Given the description of an element on the screen output the (x, y) to click on. 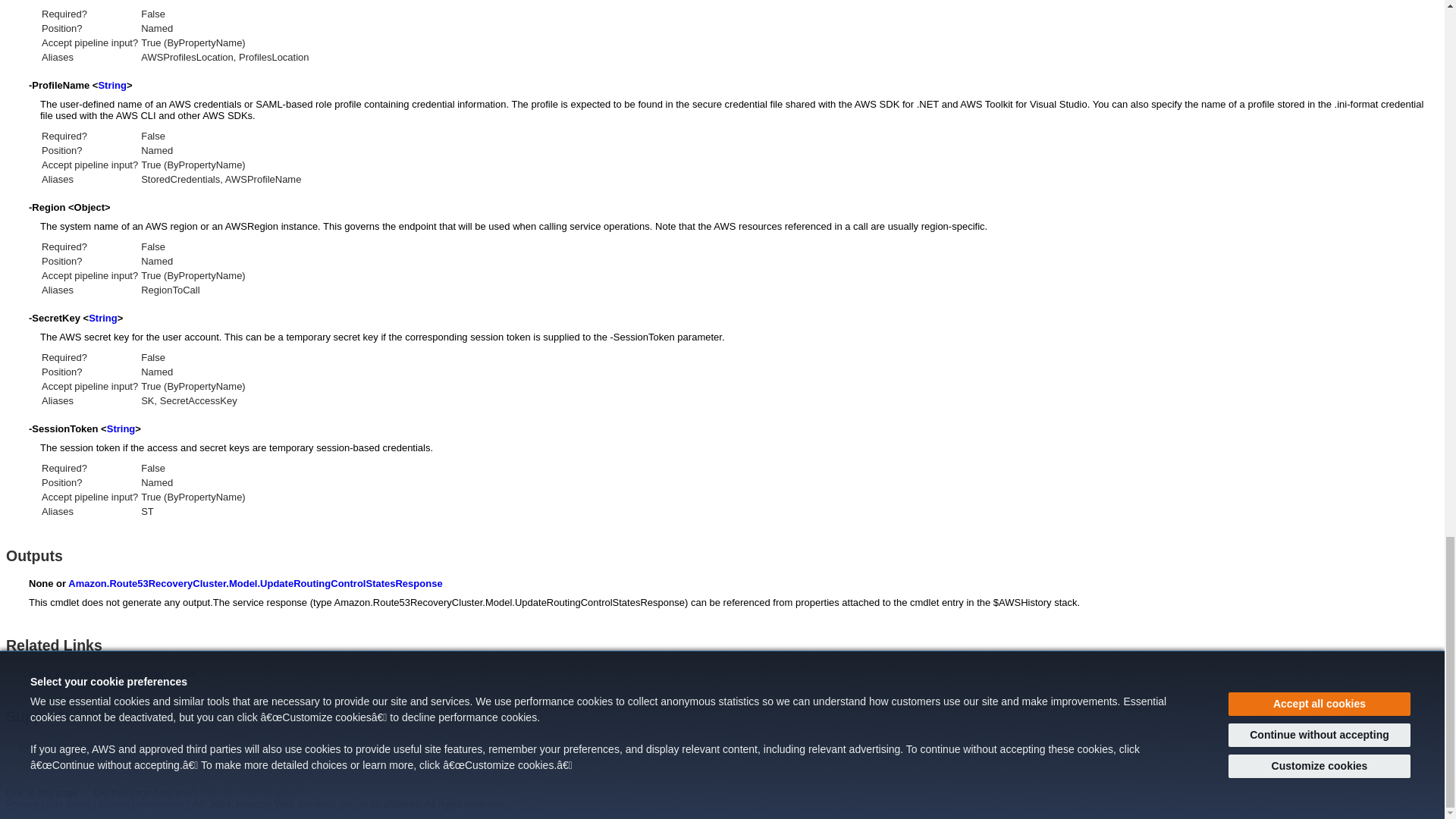
String (120, 428)
No (229, 792)
String (111, 84)
Link to this page (41, 792)
Yes (209, 792)
Privacy (22, 803)
Tell us about it... (279, 792)
String (102, 317)
AWS Tools for PowerShell User Guide (112, 673)
